Given the description of an element on the screen output the (x, y) to click on. 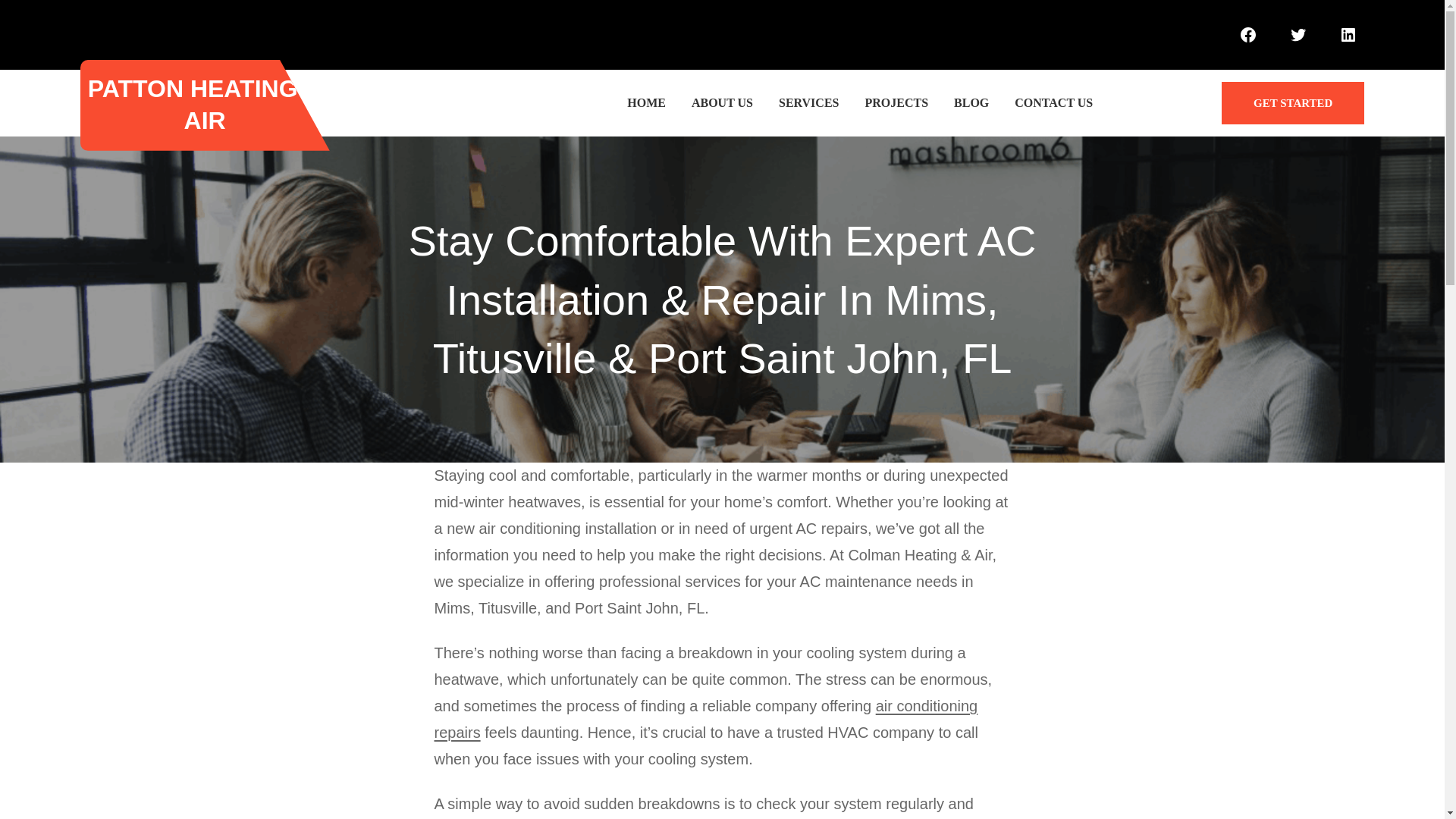
PROJECTS (896, 103)
BLOG (970, 103)
SERVICES (808, 103)
air conditioning repairs (704, 719)
Twitter (1298, 34)
LinkedIn (1348, 34)
ABOUT US (721, 103)
Facebook (1247, 34)
GET STARTED (1292, 102)
CONTACT US (1053, 103)
HOME (646, 103)
